Given the description of an element on the screen output the (x, y) to click on. 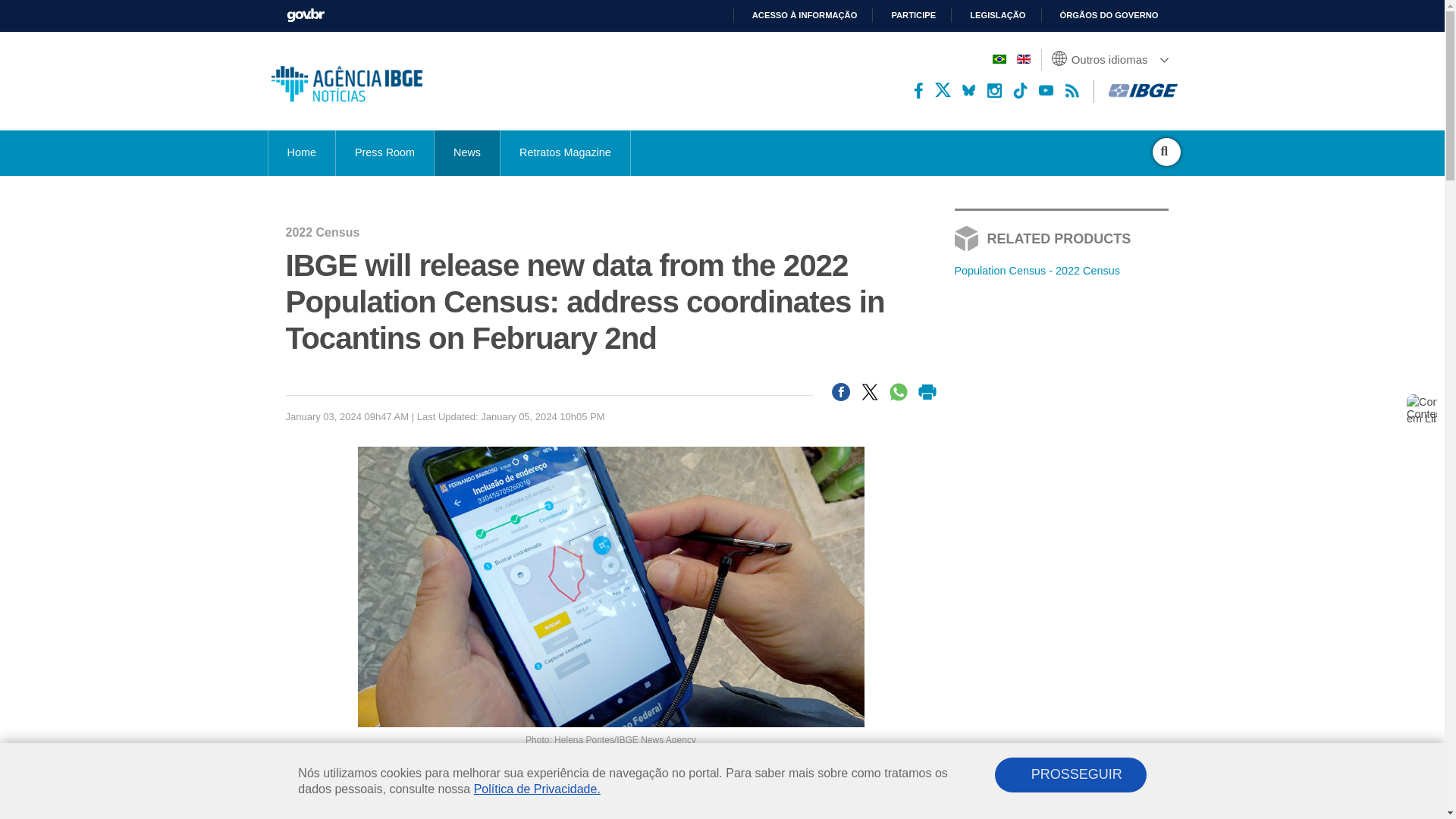
PARTICIPE (906, 14)
English (1022, 58)
GovBR (305, 14)
Twitter (942, 90)
GOVBR (305, 14)
Outros idiomas (1111, 59)
